Given the description of an element on the screen output the (x, y) to click on. 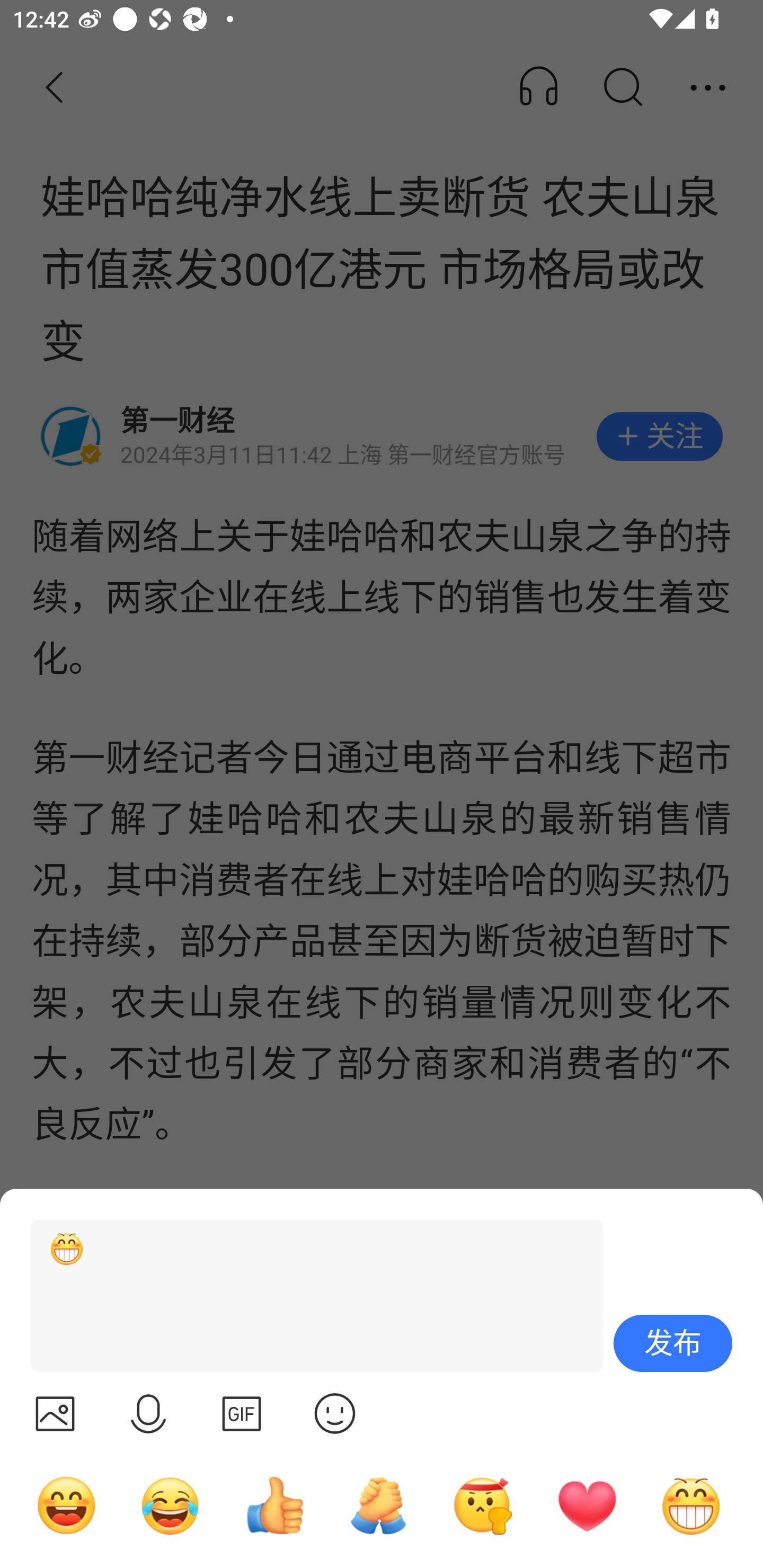
[呲牙] (308, 1295)
发布 (672, 1343)
 (54, 1413)
 (148, 1413)
 (241, 1413)
 (334, 1413)
哈哈 (66, 1505)
哭笑 (170, 1505)
点赞 (274, 1505)
加油 (378, 1505)
奋斗 (482, 1505)
心 (586, 1505)
呲牙 (690, 1505)
